Given the description of an element on the screen output the (x, y) to click on. 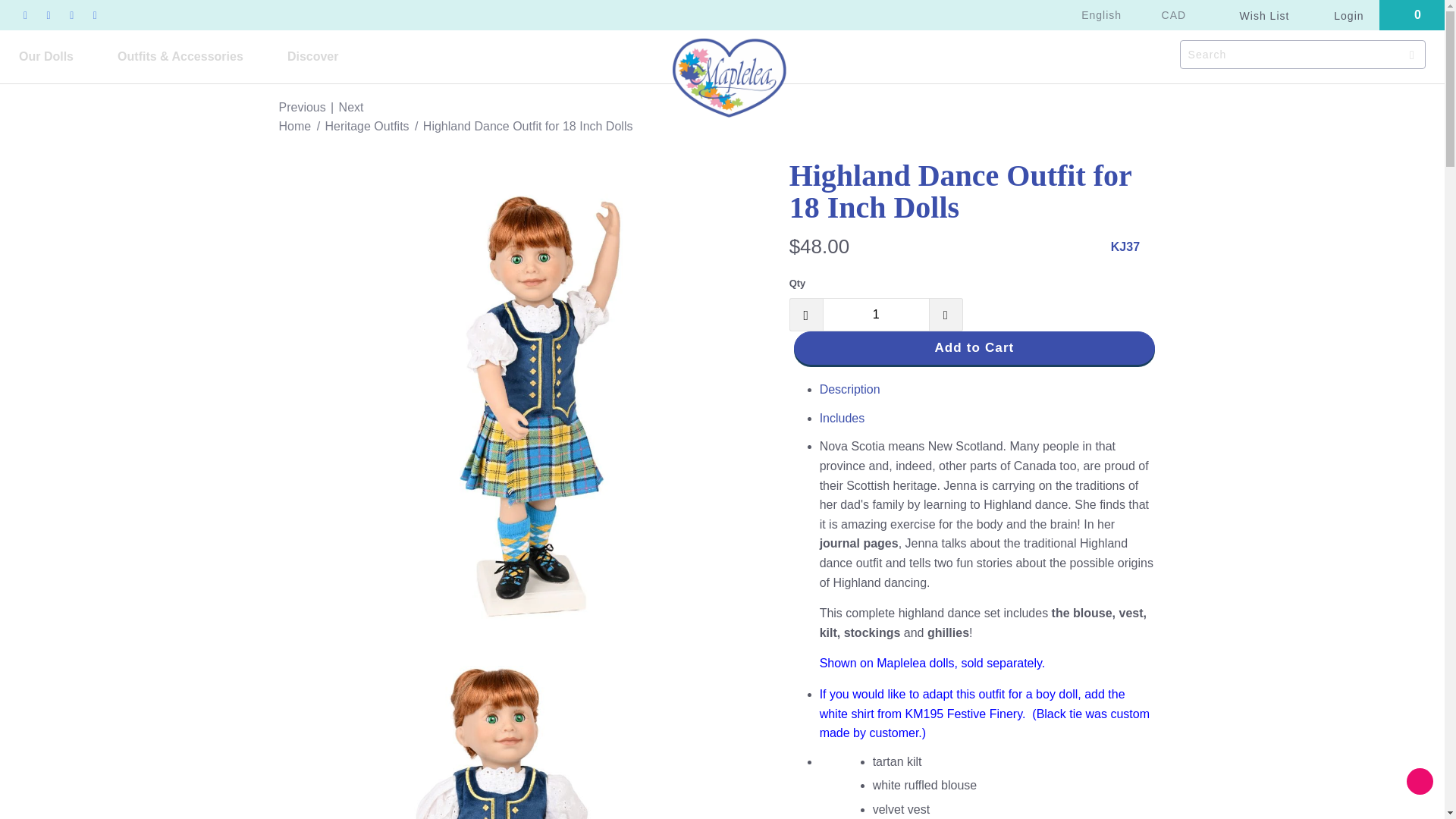
Maplelea (295, 125)
Next (351, 106)
Maplelea on Facebook (24, 15)
Maplelea on Instagram (94, 15)
Previous (302, 106)
Maplelea (729, 41)
My Account  (1339, 15)
Heritage Outfits (368, 125)
1 (876, 314)
Wish List (1256, 15)
Maplelea on YouTube (48, 15)
Maplelea on Pinterest (71, 15)
